Given the description of an element on the screen output the (x, y) to click on. 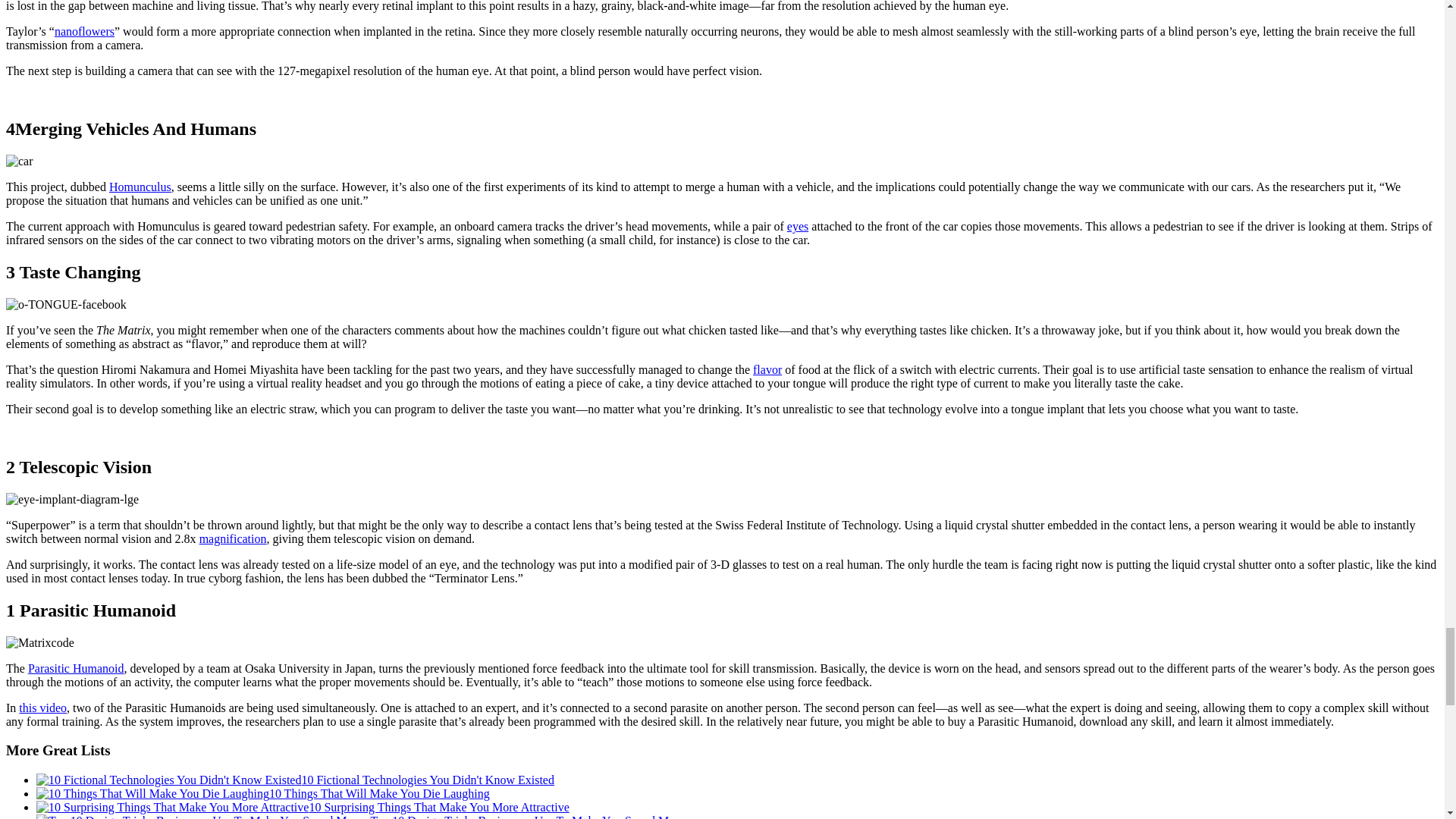
10 Surprising Things That Make You More Attractive (172, 807)
10 Fictional Technologies You Didn't Know Existed (168, 780)
10 Things That Will Make You Die Laughing (152, 793)
